Given the description of an element on the screen output the (x, y) to click on. 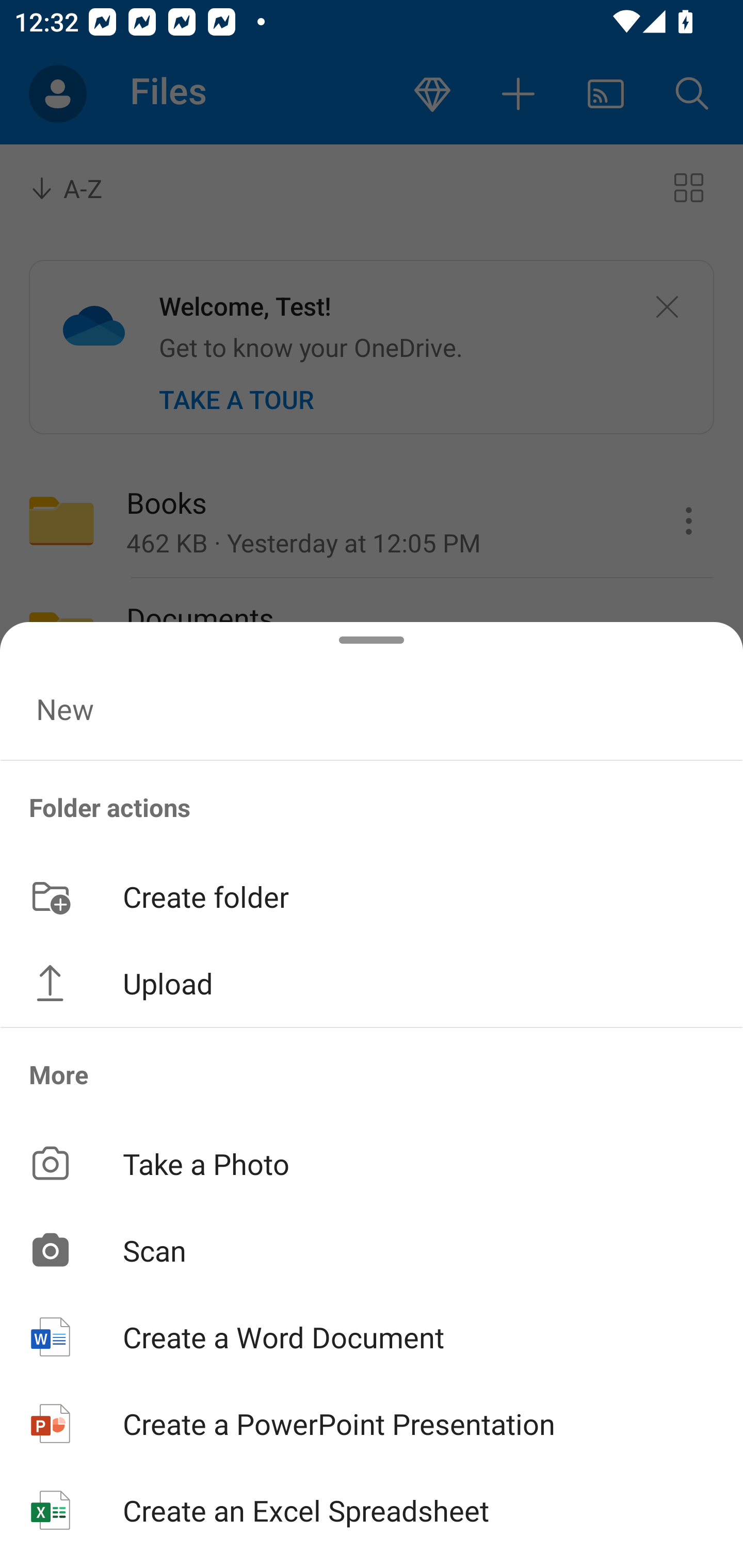
Create folder button Create folder (371, 895)
Upload button Upload (371, 983)
Take a Photo button Take a Photo (371, 1163)
Scan button Scan (371, 1250)
